Given the description of an element on the screen output the (x, y) to click on. 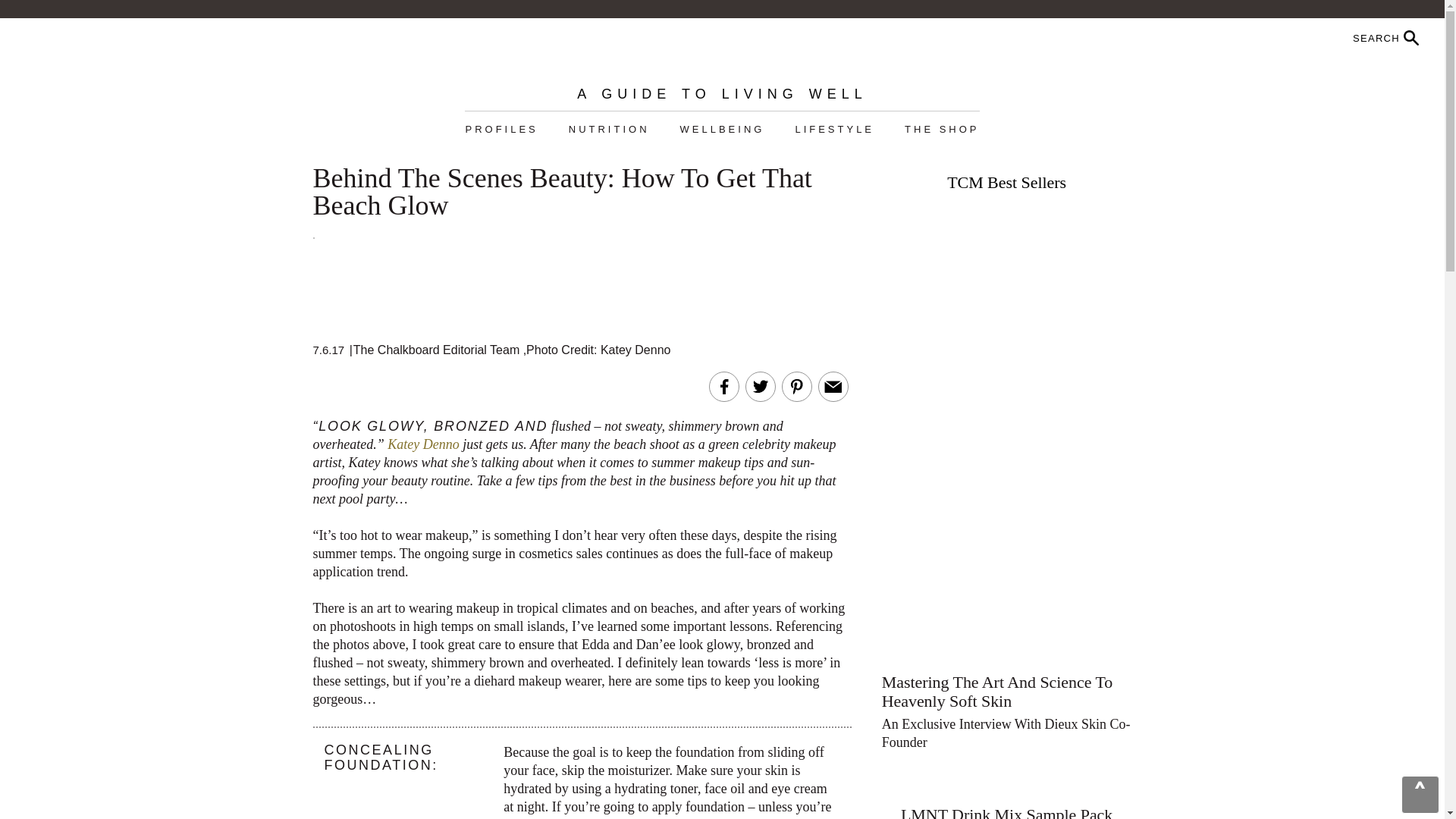
Email this article (833, 386)
Share this article on Facebook (724, 386)
Search (1346, 37)
The Chalkboard (721, 52)
Share an image of this article on Pinterest (797, 386)
Share this article on Twitter (760, 386)
